Given the description of an element on the screen output the (x, y) to click on. 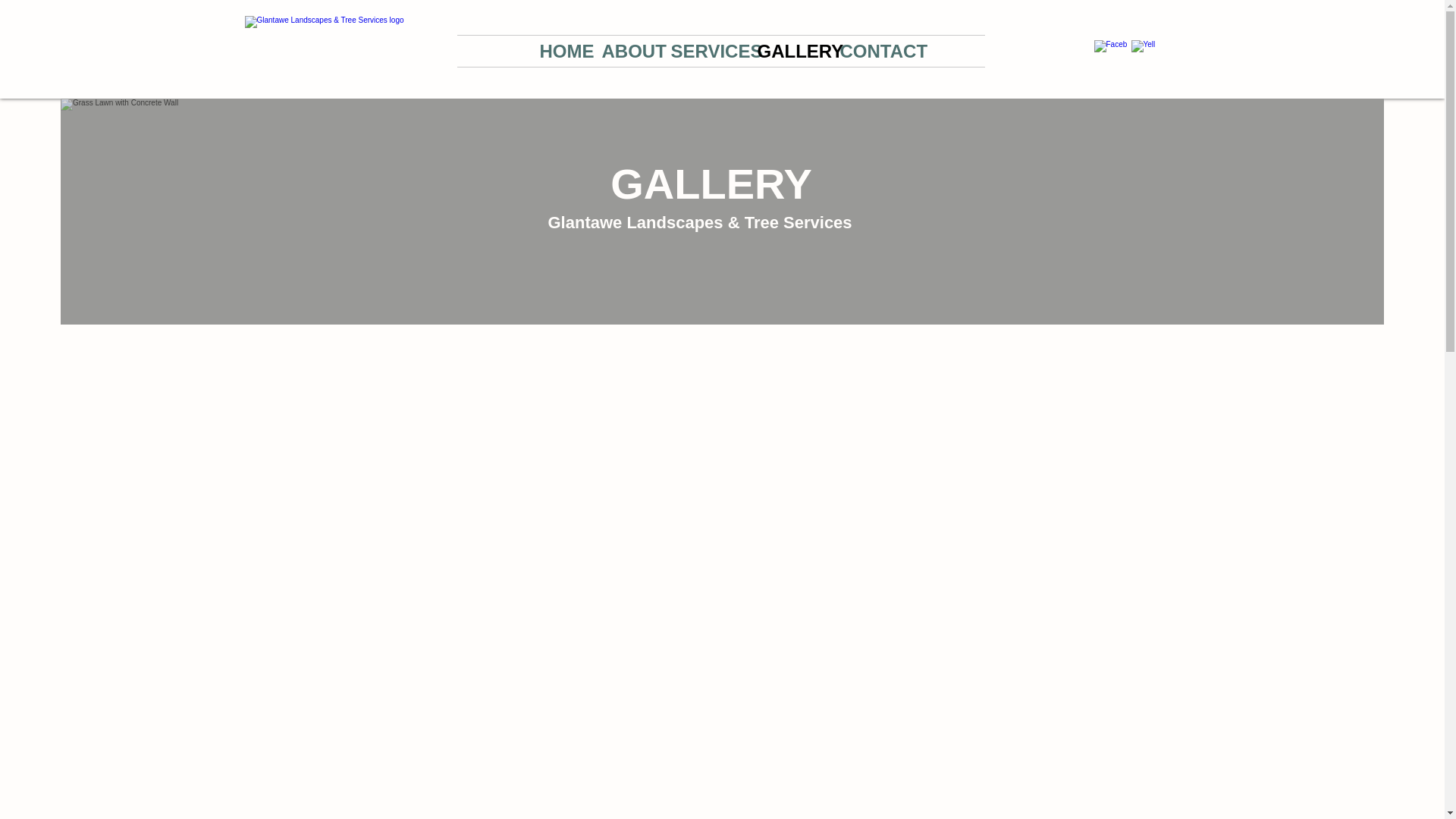
ABOUT (624, 51)
HOME (558, 51)
CONTACT (870, 51)
SERVICES (702, 51)
GALLERY (786, 51)
